Given the description of an element on the screen output the (x, y) to click on. 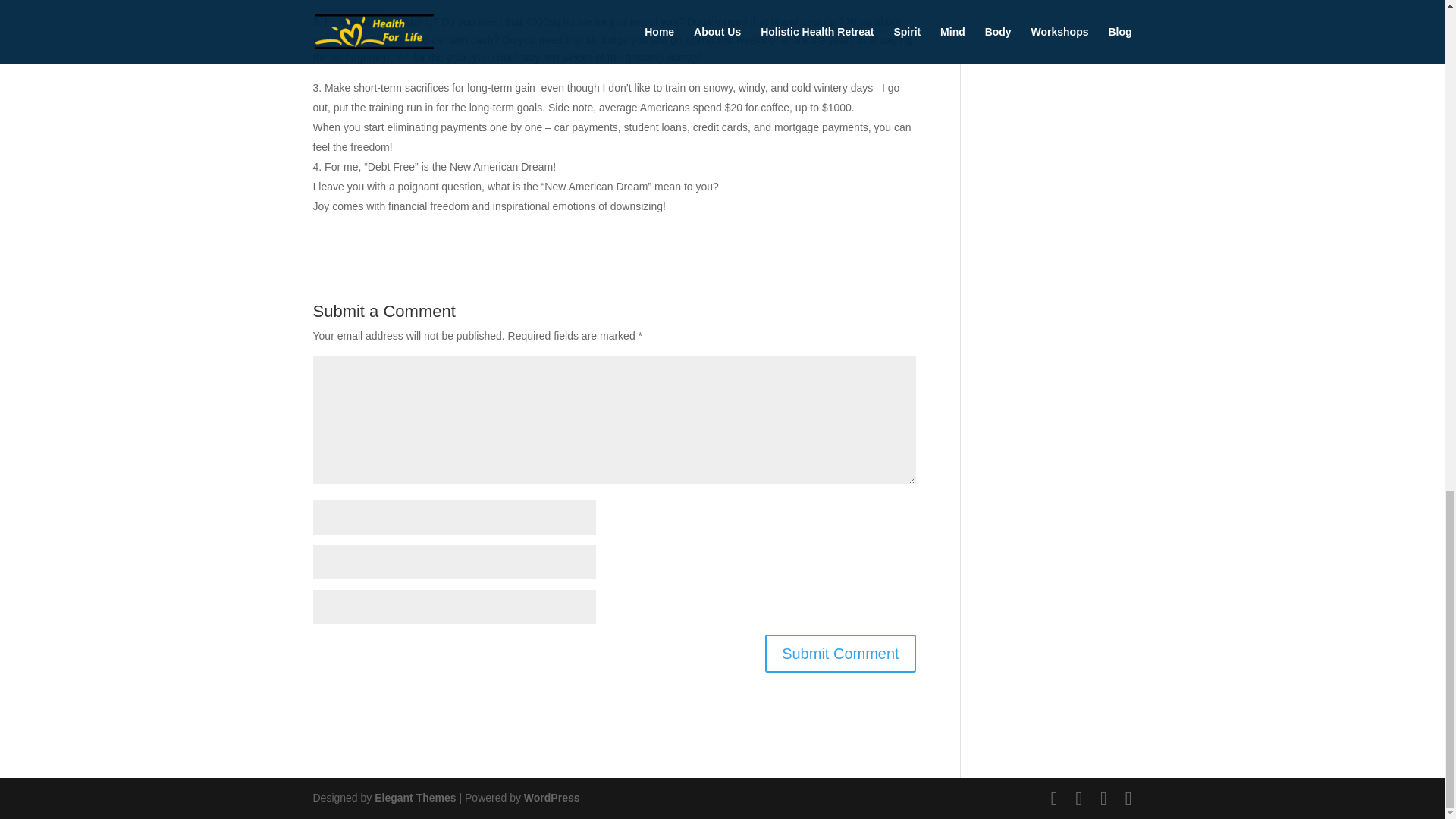
Submit Comment (840, 653)
Submit Comment (840, 653)
Premium WordPress Themes (414, 797)
